Given the description of an element on the screen output the (x, y) to click on. 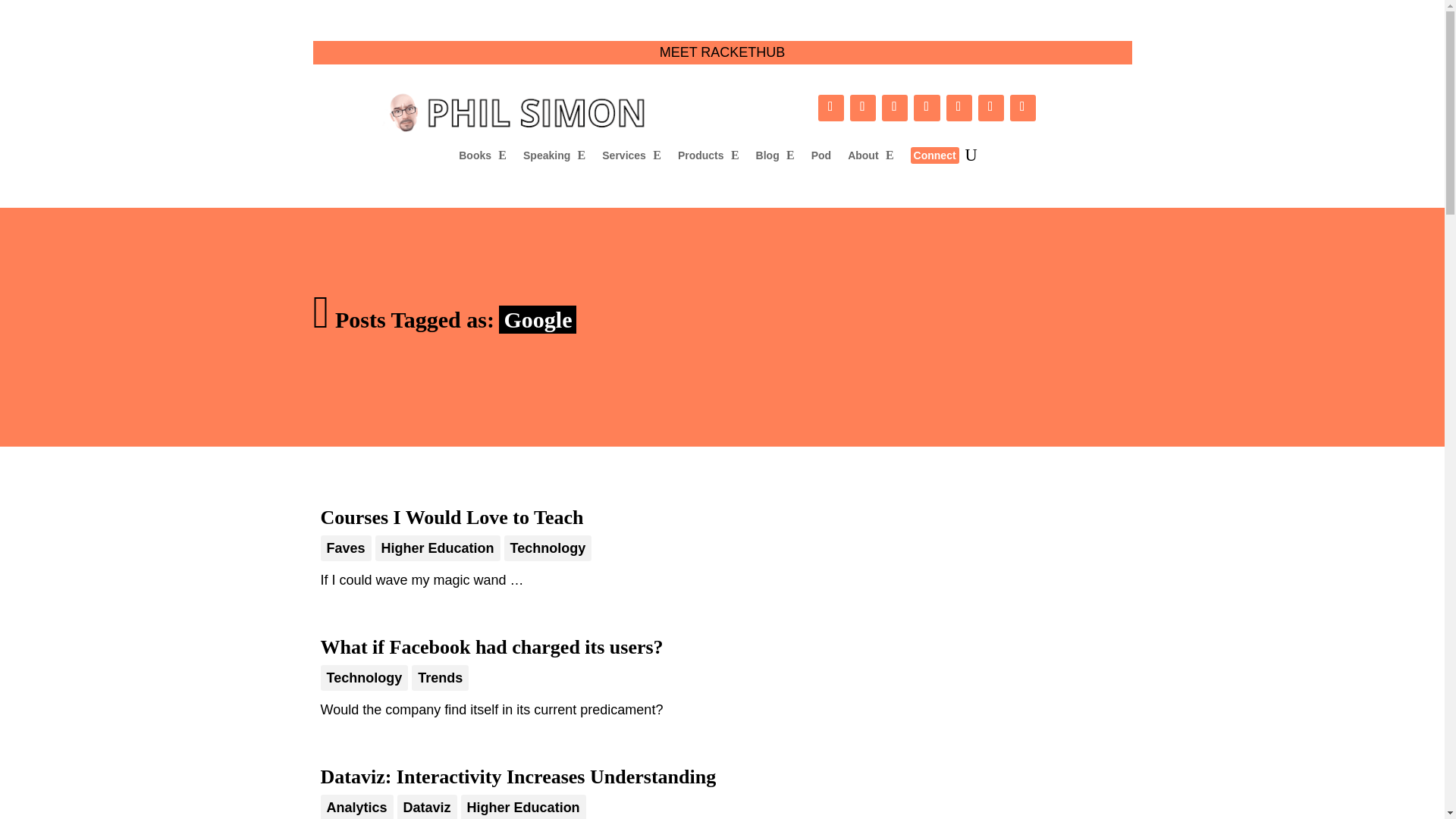
Follow on Spotify (894, 107)
Follow on Youtube (926, 107)
Follow on RSS (959, 107)
Books (482, 158)
Follow on Google (1022, 107)
Speaking (553, 158)
Follow on LinkedIn (831, 107)
Products (708, 158)
Follow on Patreon (991, 107)
Follow on Amazon (863, 107)
new mobile logo (516, 111)
Services (631, 158)
